Given the description of an element on the screen output the (x, y) to click on. 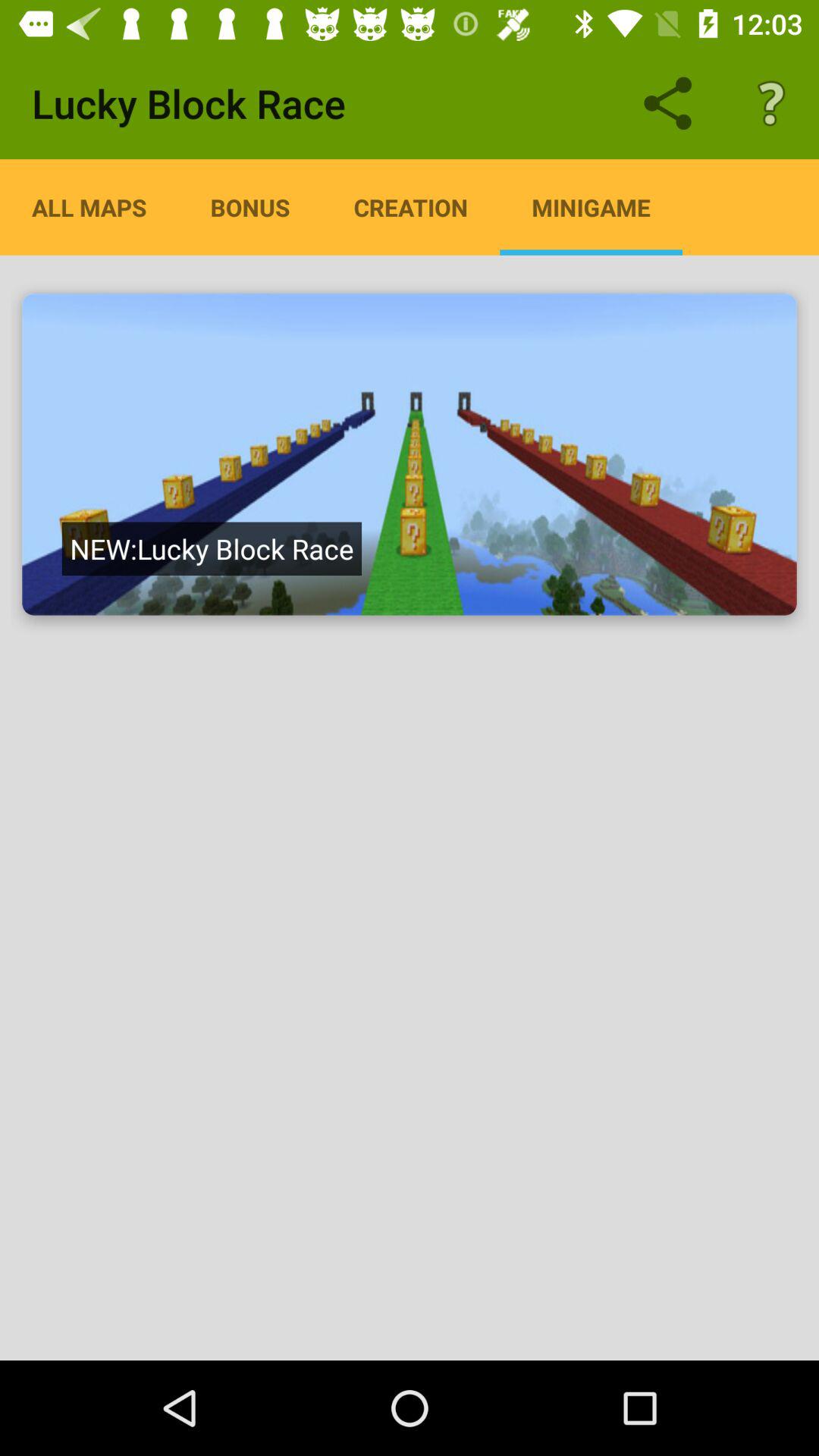
tap app to the right of bonus icon (410, 207)
